Given the description of an element on the screen output the (x, y) to click on. 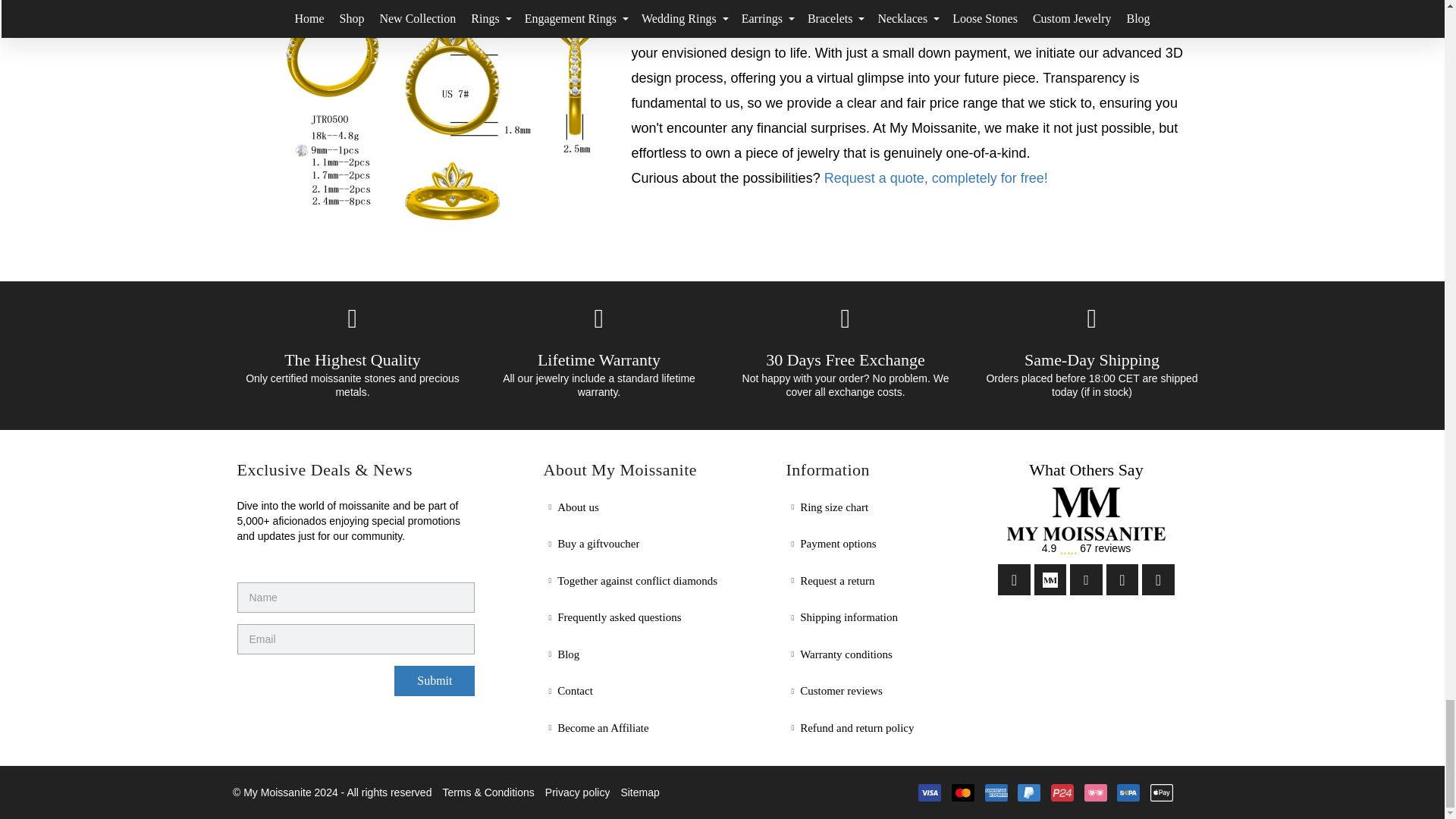
4.9 67 reviews (1085, 521)
